Given the description of an element on the screen output the (x, y) to click on. 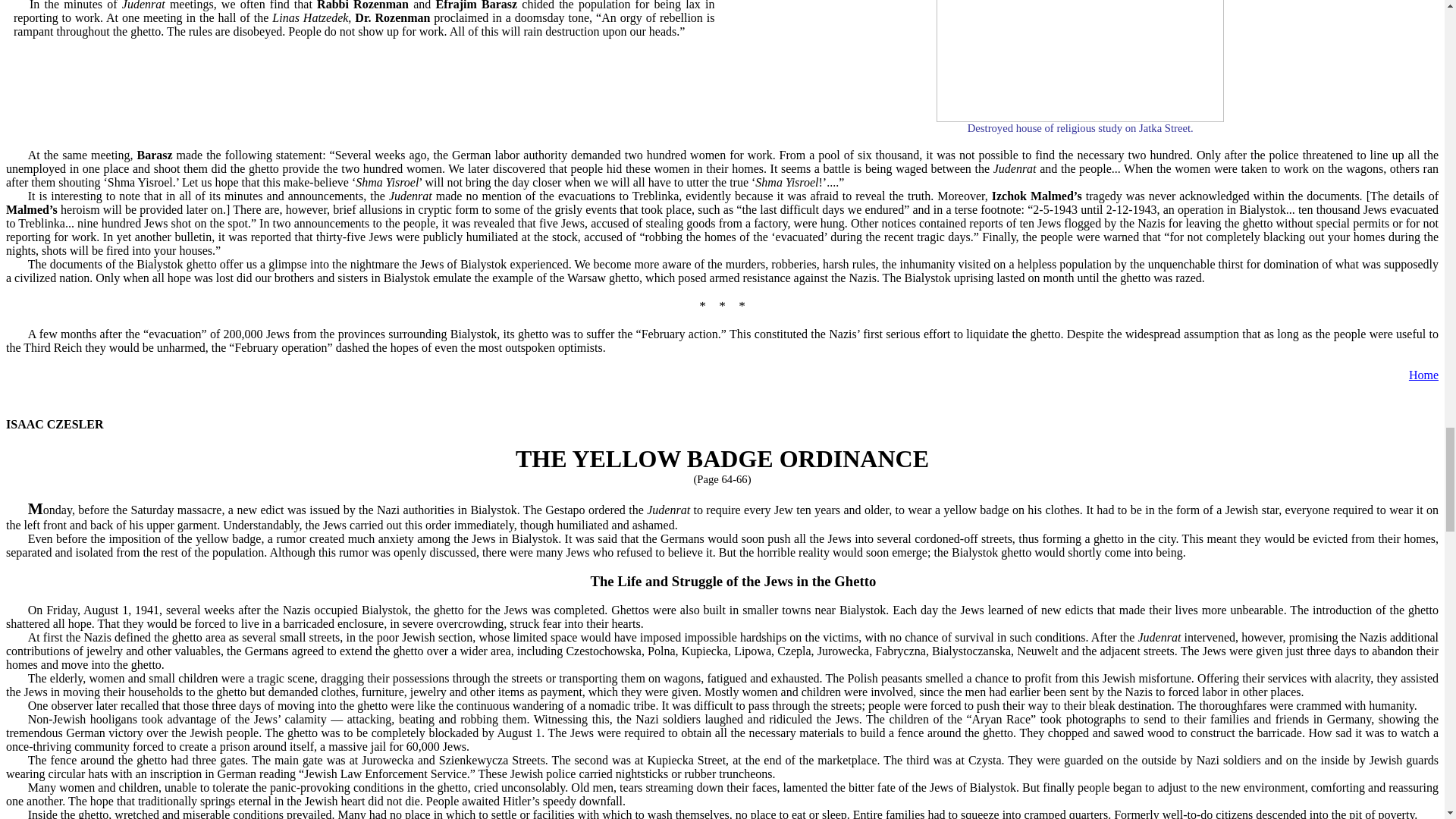
Home (1423, 374)
